Given the description of an element on the screen output the (x, y) to click on. 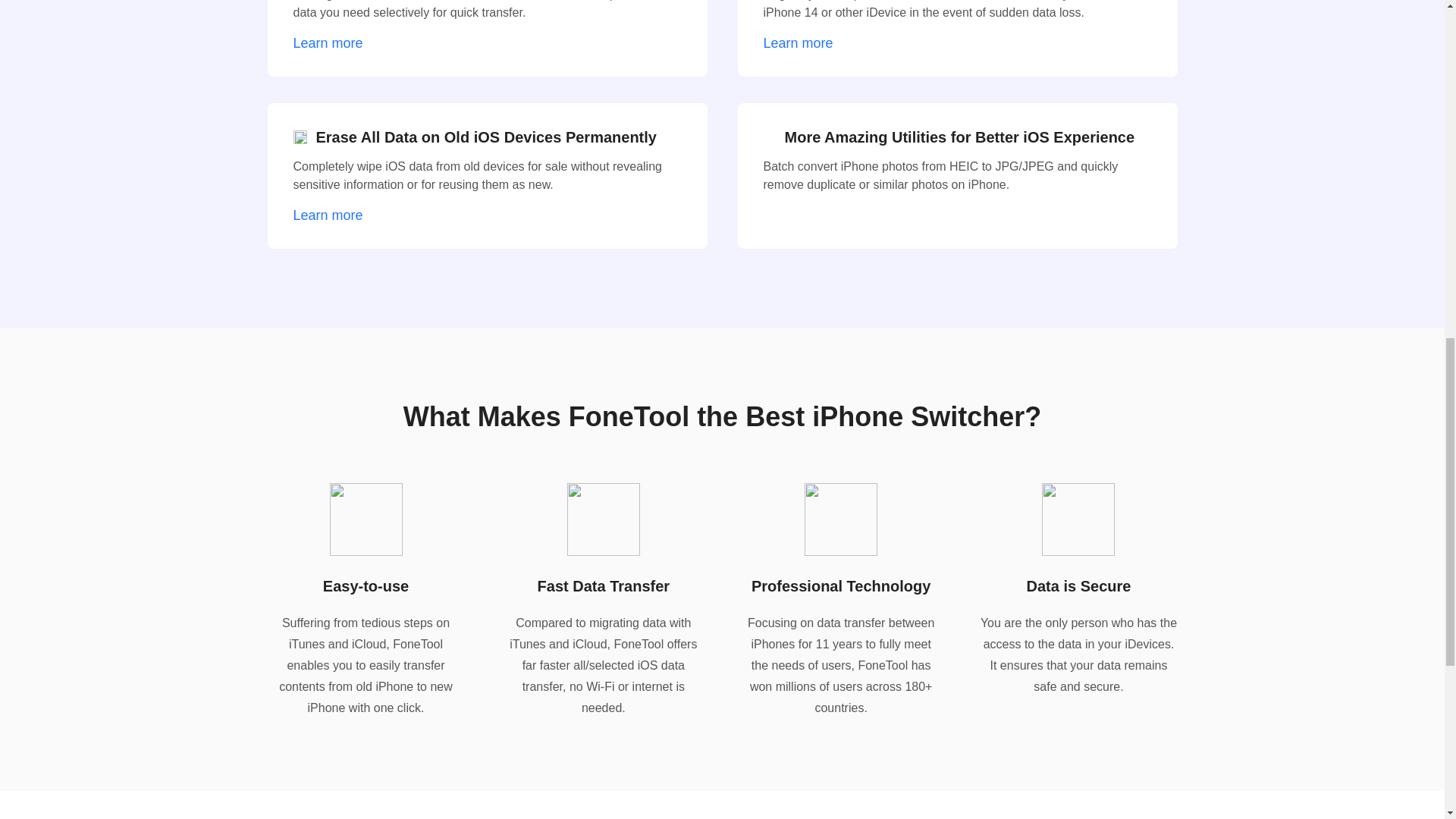
Learn more (333, 43)
Learn more (803, 43)
Learn more (333, 215)
